Given the description of an element on the screen output the (x, y) to click on. 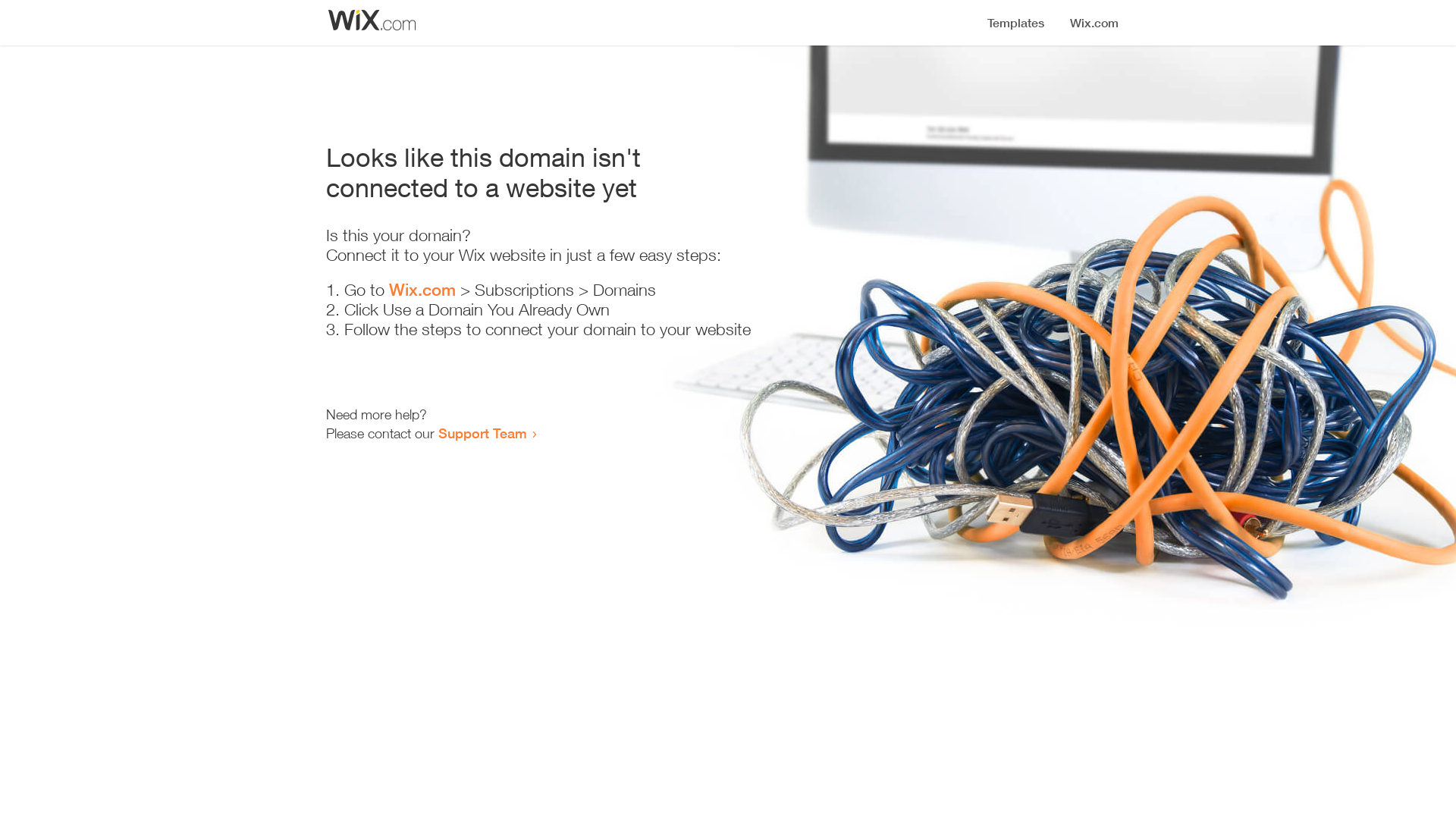
Wix.com Element type: text (422, 289)
Support Team Element type: text (482, 432)
